Given the description of an element on the screen output the (x, y) to click on. 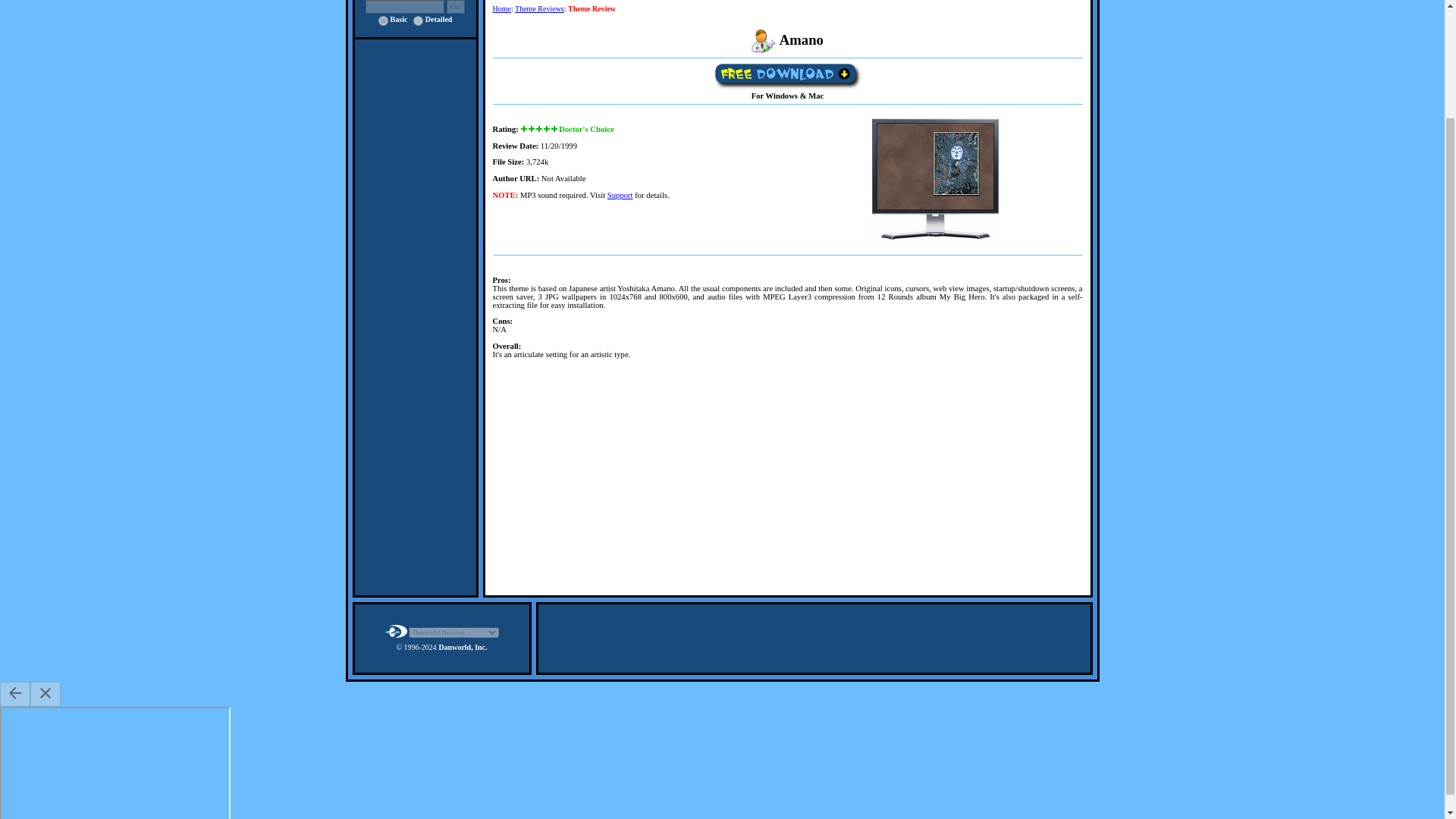
Go! (455, 6)
Go! (455, 6)
Advertisement (788, 481)
Advertisement (814, 638)
